Given the description of an element on the screen output the (x, y) to click on. 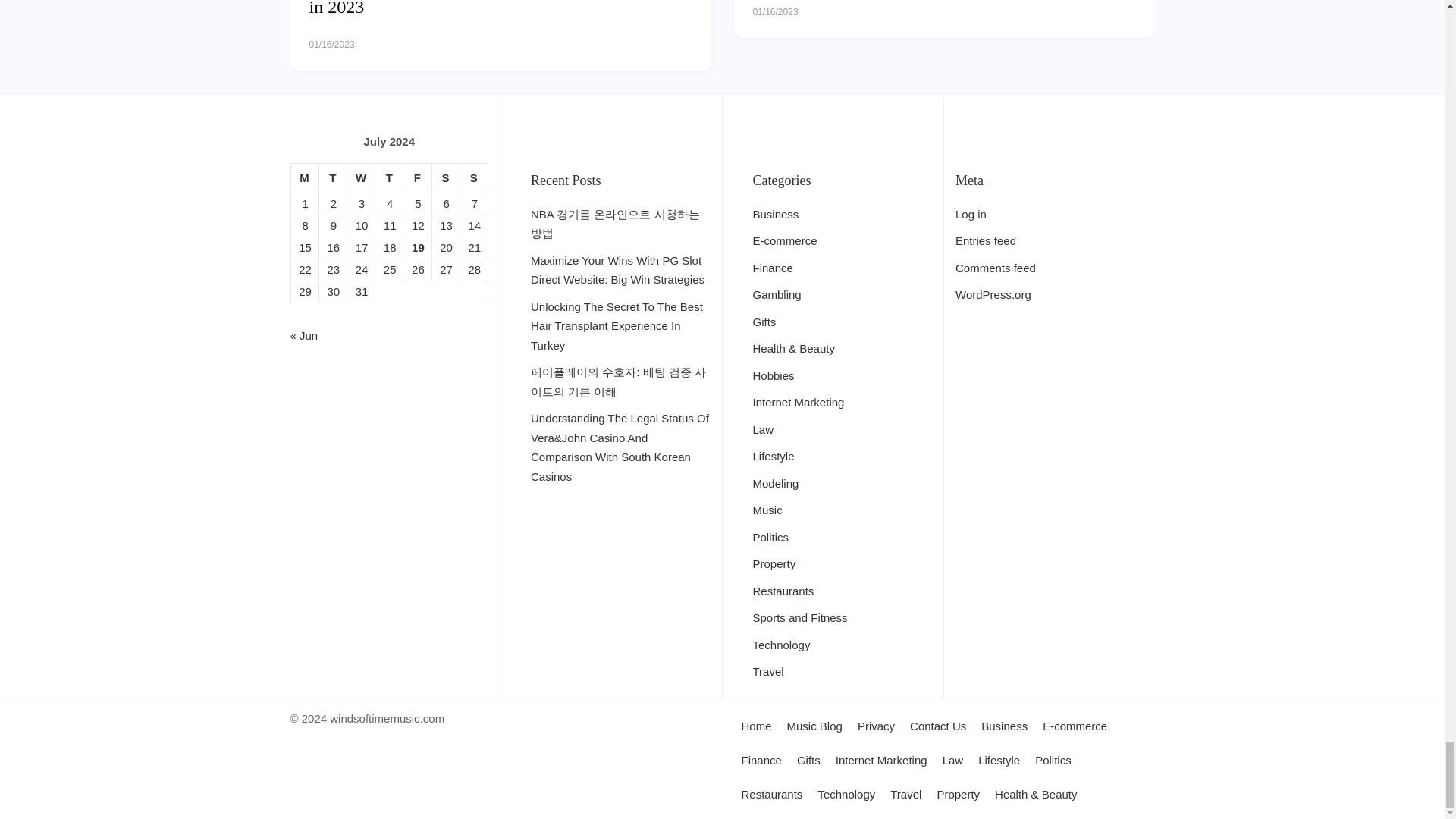
Monday (303, 177)
Wednesday (360, 177)
Friday (416, 177)
Sunday (473, 177)
Tuesday (332, 177)
Thursday (389, 177)
Saturday (445, 177)
